Given the description of an element on the screen output the (x, y) to click on. 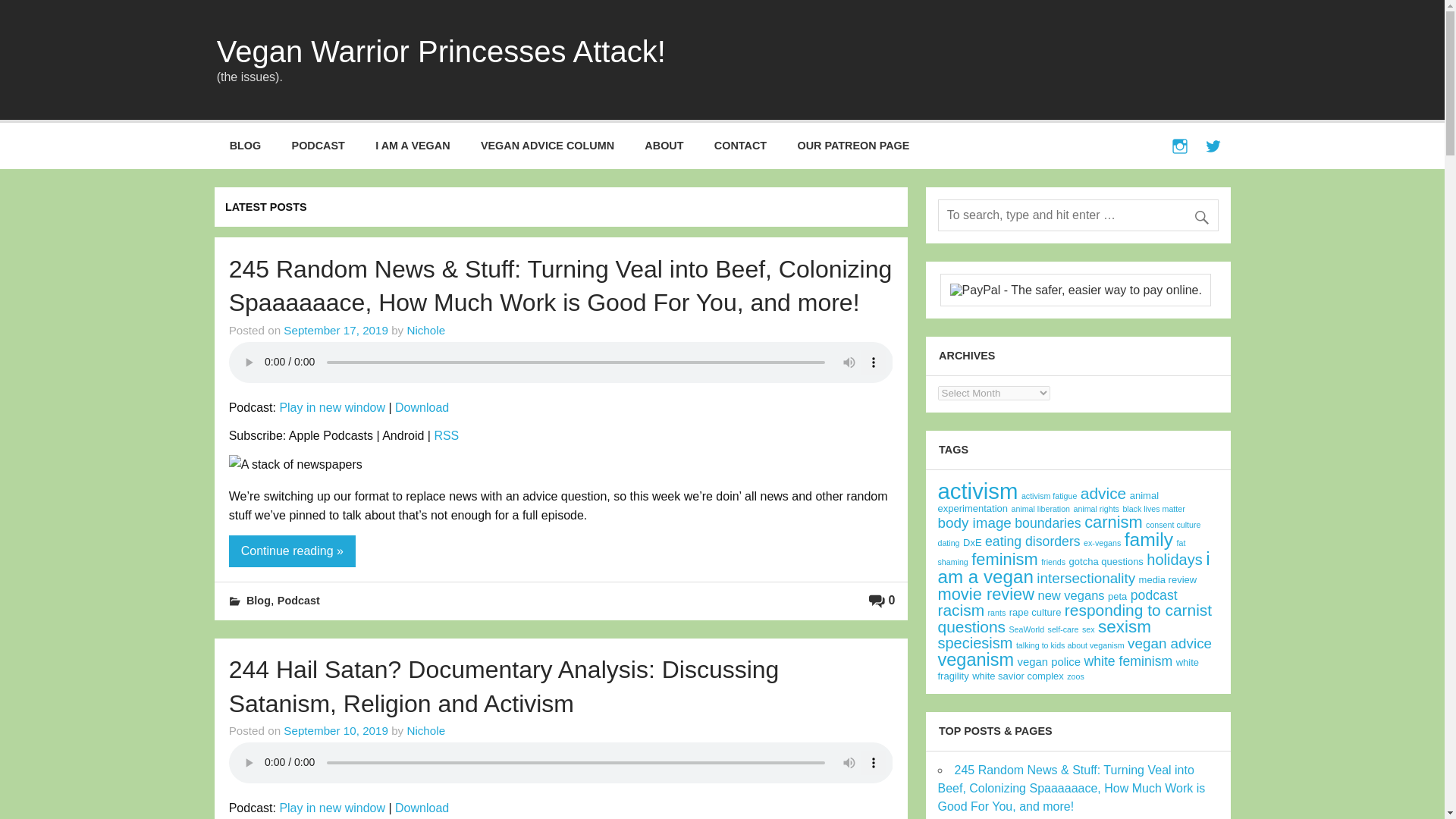
September 17, 2019 (335, 329)
Play in new window (332, 407)
Download (421, 807)
2:00 am (335, 329)
RSS (445, 435)
Download (421, 407)
Nichole (425, 329)
Play in new window (332, 807)
0 (882, 599)
CONTACT (740, 145)
Blog (258, 600)
2:30 am (335, 730)
Download (421, 807)
VEGAN ADVICE COLUMN (546, 145)
